Given the description of an element on the screen output the (x, y) to click on. 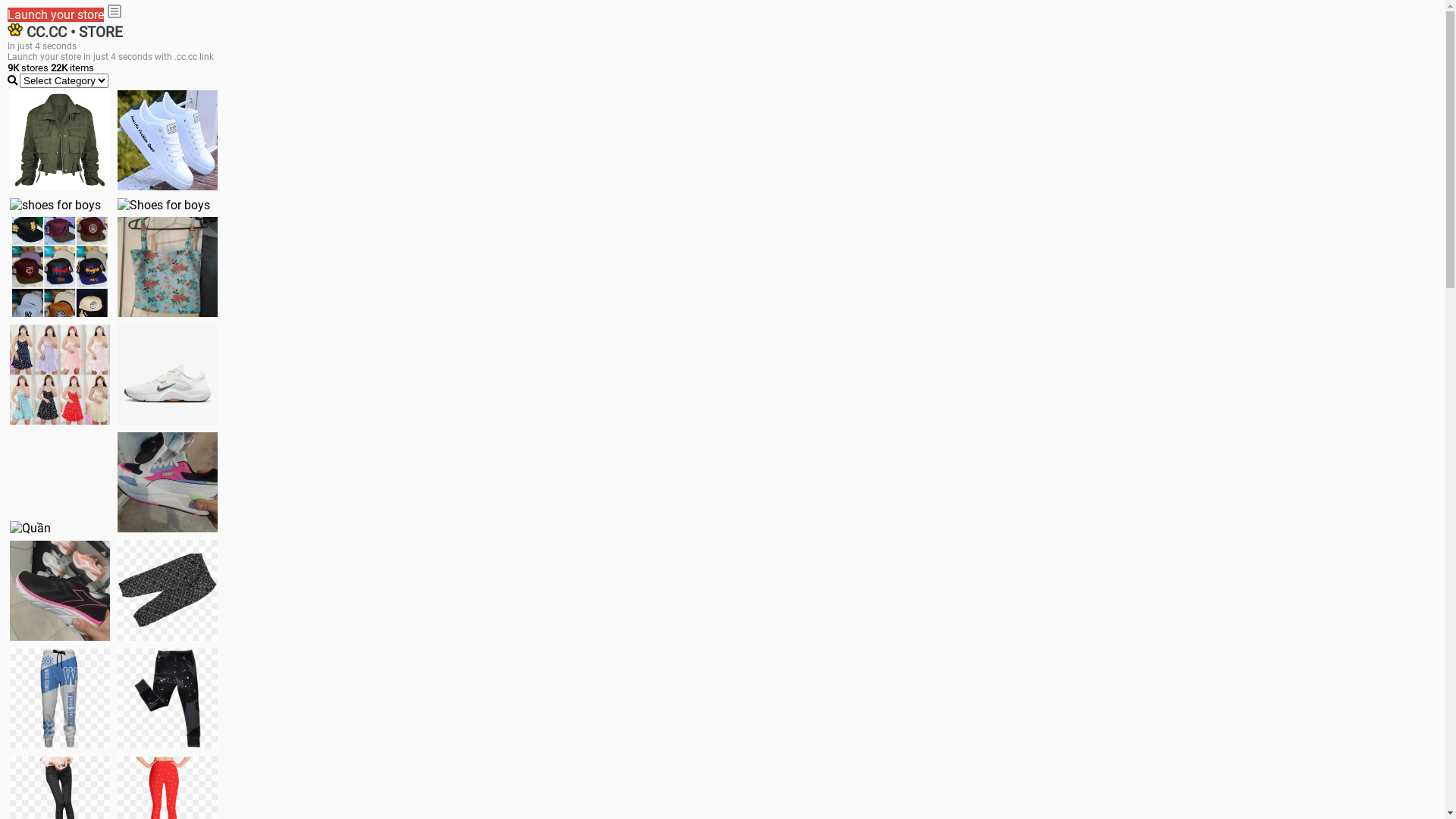
Pant Element type: hover (59, 697)
Zapatillas pumas Element type: hover (167, 482)
shoes for boys Element type: hover (54, 204)
Pant Element type: hover (167, 697)
Zapatillas Element type: hover (59, 589)
Shoes for boys Element type: hover (163, 204)
Short pant Element type: hover (167, 589)
Things we need Element type: hover (59, 266)
jacket Element type: hover (59, 140)
Shoes Element type: hover (167, 374)
Dress/square nect top Element type: hover (59, 374)
Launch your store Element type: text (55, 14)
white shoes Element type: hover (167, 140)
Ukay cloth Element type: hover (167, 266)
